Given the description of an element on the screen output the (x, y) to click on. 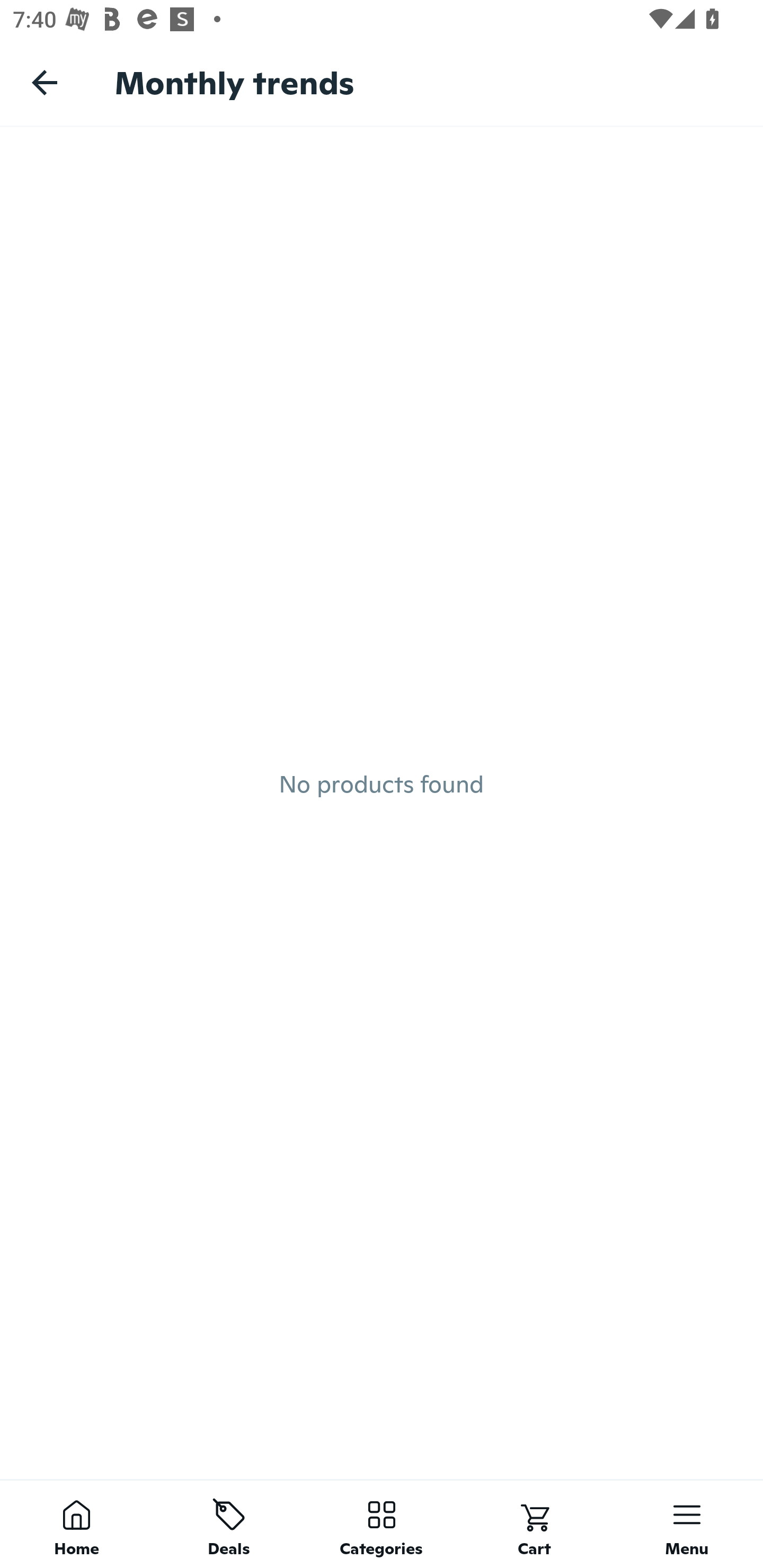
Navigate up (44, 82)
Home (76, 1523)
Deals (228, 1523)
Categories (381, 1523)
Cart (533, 1523)
Menu (686, 1523)
